Given the description of an element on the screen output the (x, y) to click on. 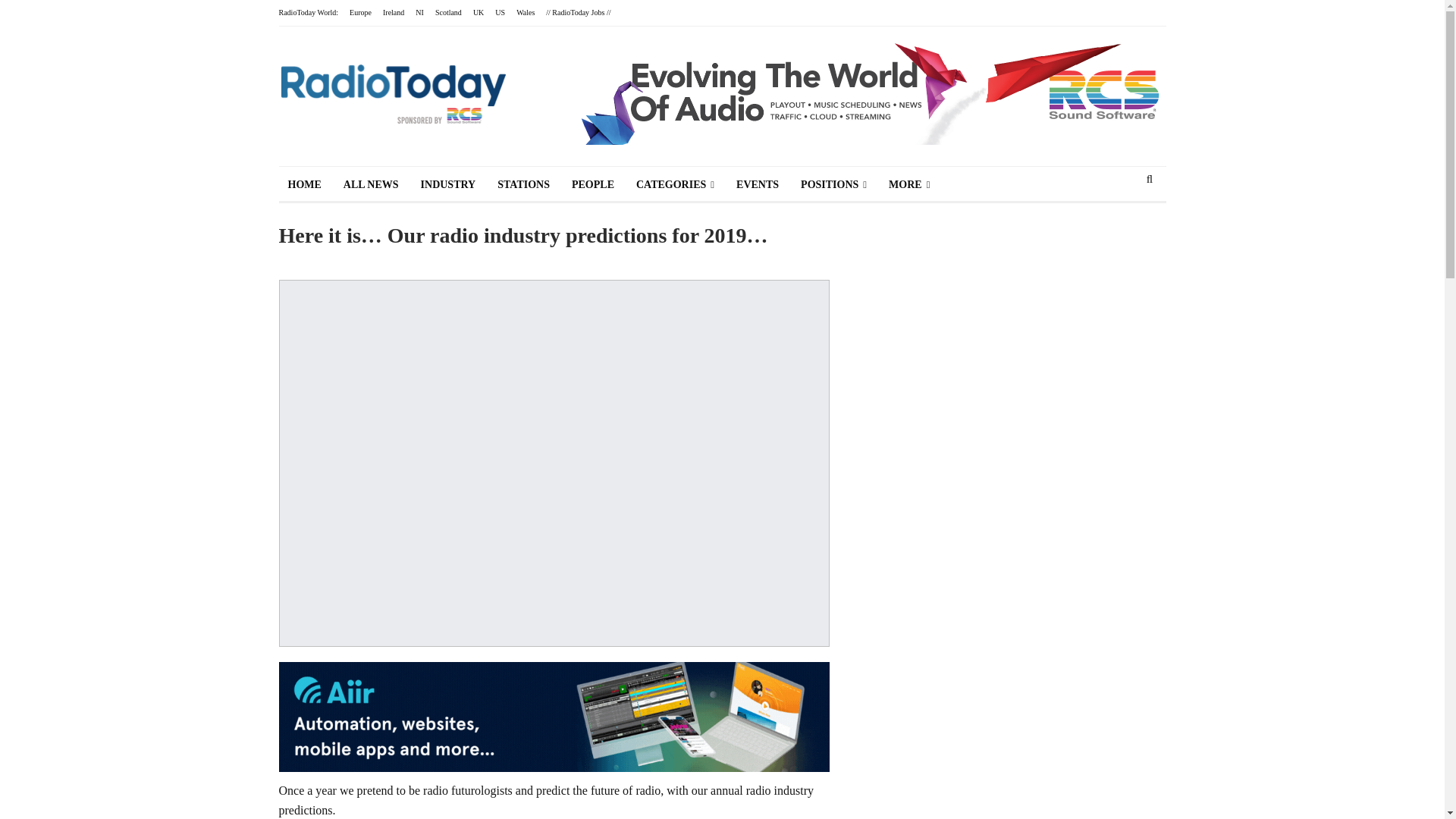
RadioToday World: (309, 12)
HOME (304, 185)
CATEGORIES (675, 185)
Wales (525, 12)
STATIONS (523, 185)
Scotland (448, 12)
EVENTS (756, 185)
PEOPLE (592, 185)
Ireland (393, 12)
UK (478, 12)
